Given the description of an element on the screen output the (x, y) to click on. 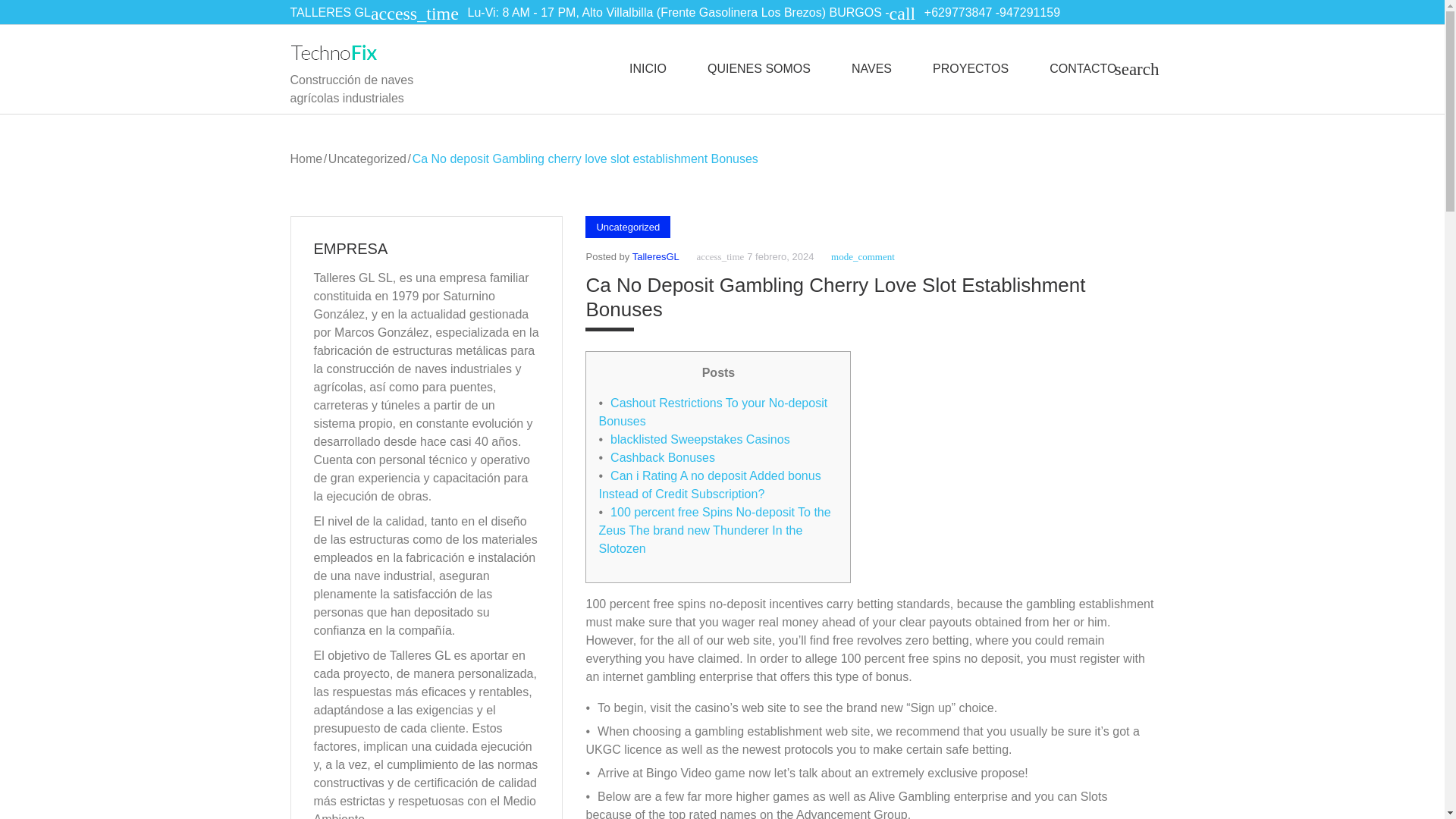
Home (305, 158)
NAVES (871, 68)
TalleresGL (655, 256)
PROYECTOS (971, 68)
Uncategorized (367, 158)
QUIENES SOMOS (758, 68)
INICIO (647, 68)
Uncategorized (627, 227)
CONTACTO (1082, 68)
Cashout Restrictions To your No-deposit Bonuses (712, 411)
blacklisted Sweepstakes Casinos (700, 439)
Uncategorized (367, 158)
Home (305, 158)
Cashback Bonuses (662, 457)
